Given the description of an element on the screen output the (x, y) to click on. 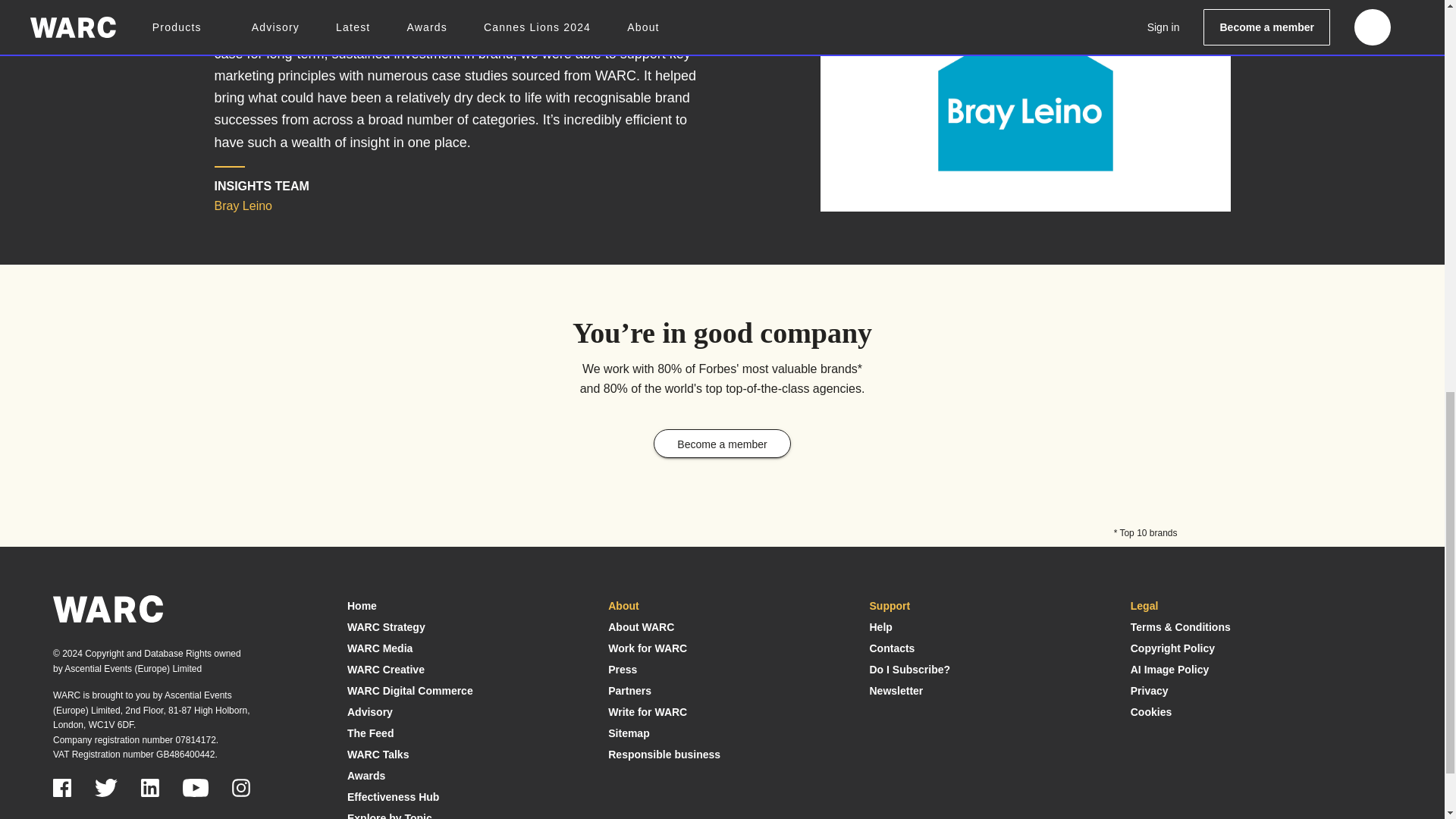
Bray Leino (1025, 95)
